Given the description of an element on the screen output the (x, y) to click on. 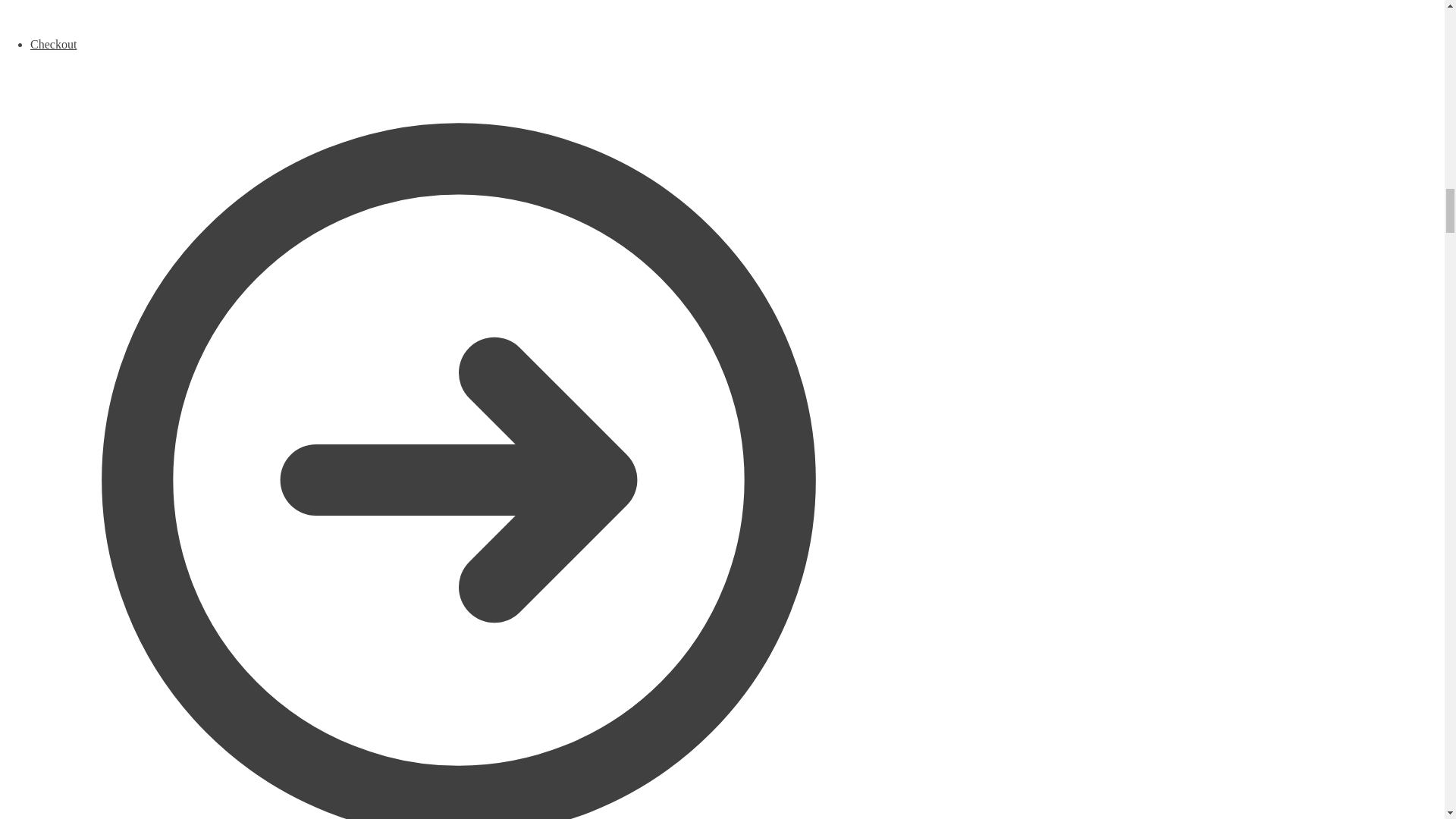
Customer Help (458, 18)
